Given the description of an element on the screen output the (x, y) to click on. 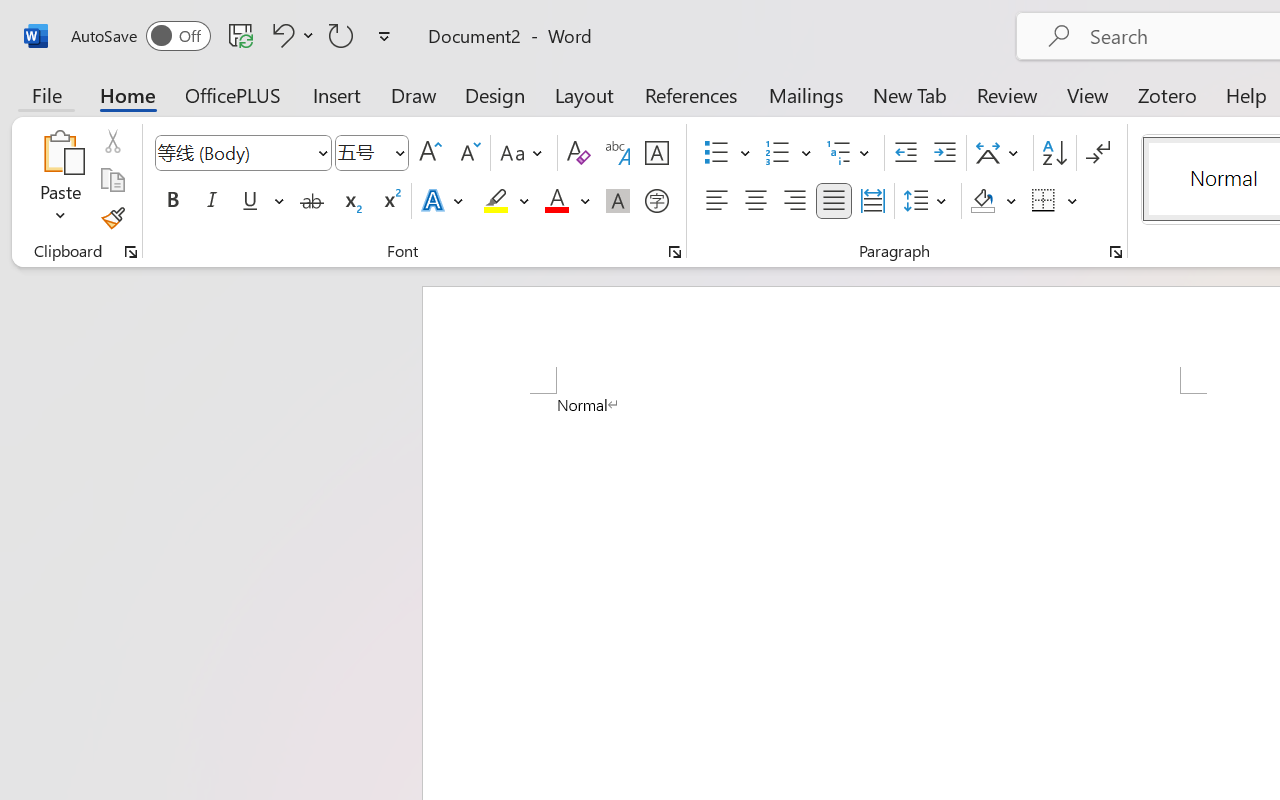
Underline (261, 201)
Font Size (372, 153)
Borders (1055, 201)
Borders (1044, 201)
Change Case (524, 153)
File Tab (46, 94)
Bullets (716, 153)
Open (399, 152)
Paragraph... (1115, 252)
Shrink Font (468, 153)
Phonetic Guide... (618, 153)
Asian Layout (1000, 153)
Font Color Red (556, 201)
Center (756, 201)
